Given the description of an element on the screen output the (x, y) to click on. 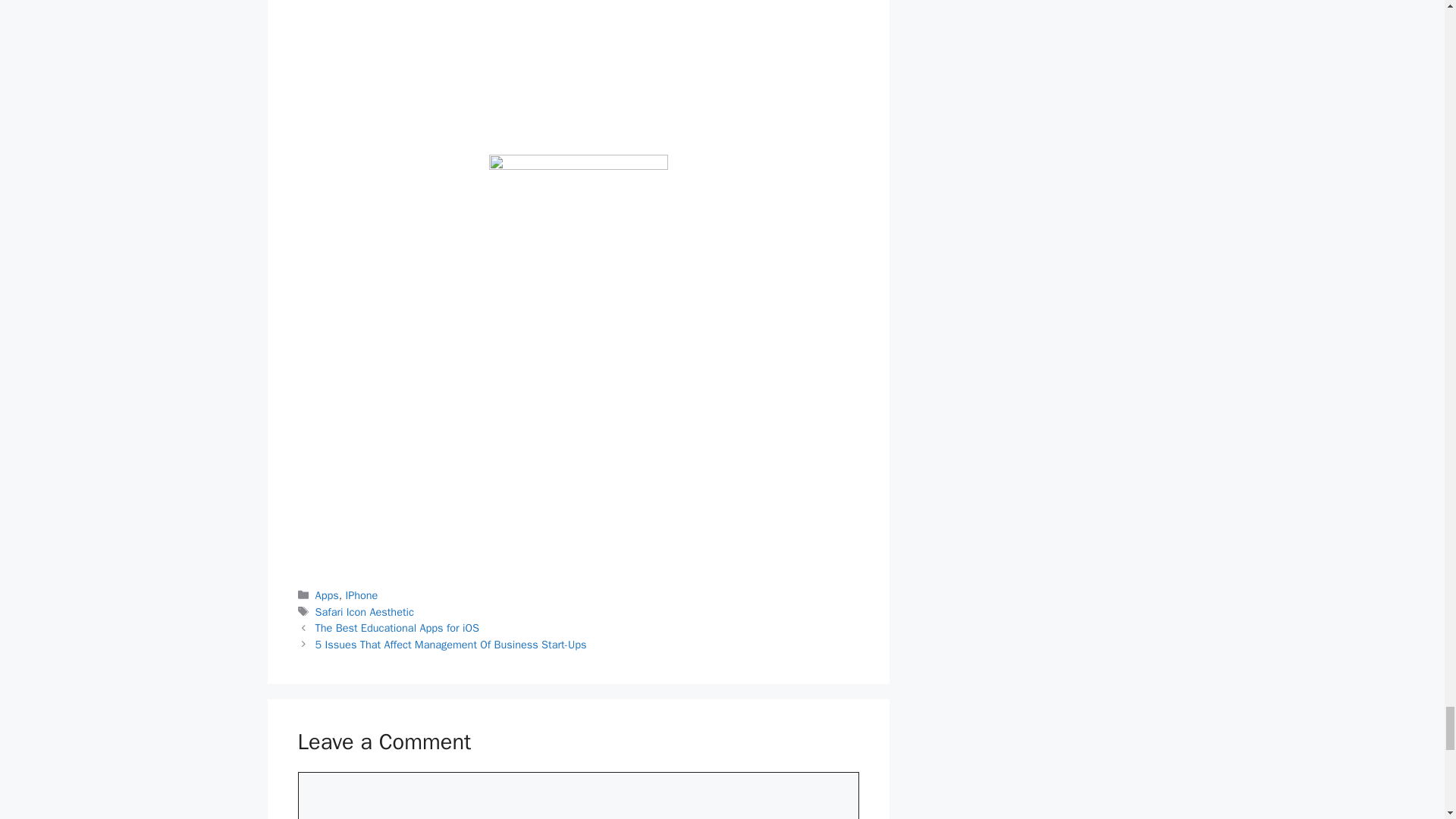
Apps (327, 594)
IPhone (361, 594)
5 Issues That Affect Management Of Business Start-Ups (450, 644)
The Best Educational Apps for iOS (397, 627)
Safari Icon Aesthetic (364, 612)
